Given the description of an element on the screen output the (x, y) to click on. 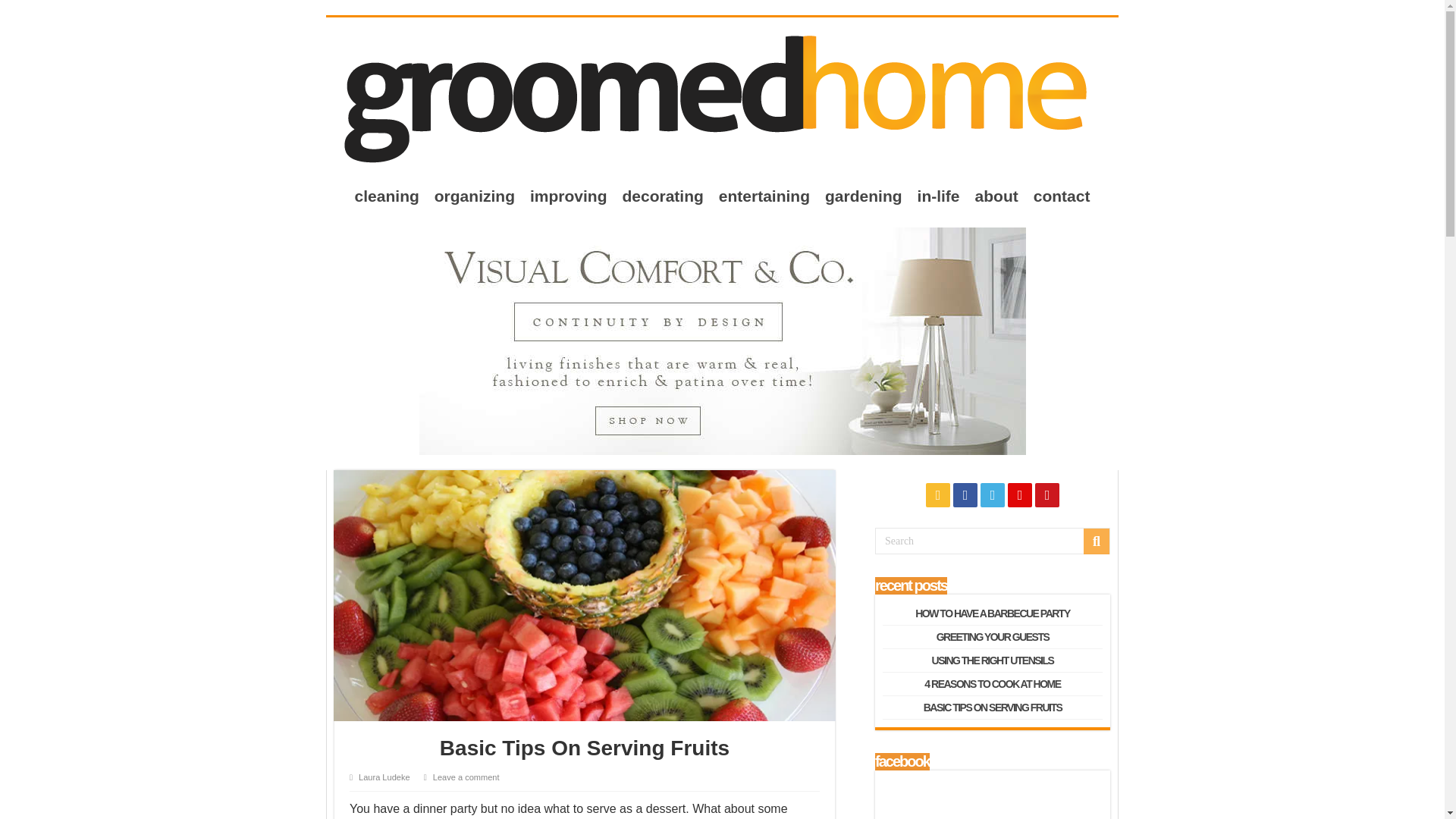
Youtube (1047, 494)
cleaning (386, 196)
Rss (938, 494)
improving (568, 196)
organizing (474, 196)
Pinterest (1019, 494)
Visual Comfort Co (722, 339)
Groomed Home (716, 97)
Search (992, 540)
